Given the description of an element on the screen output the (x, y) to click on. 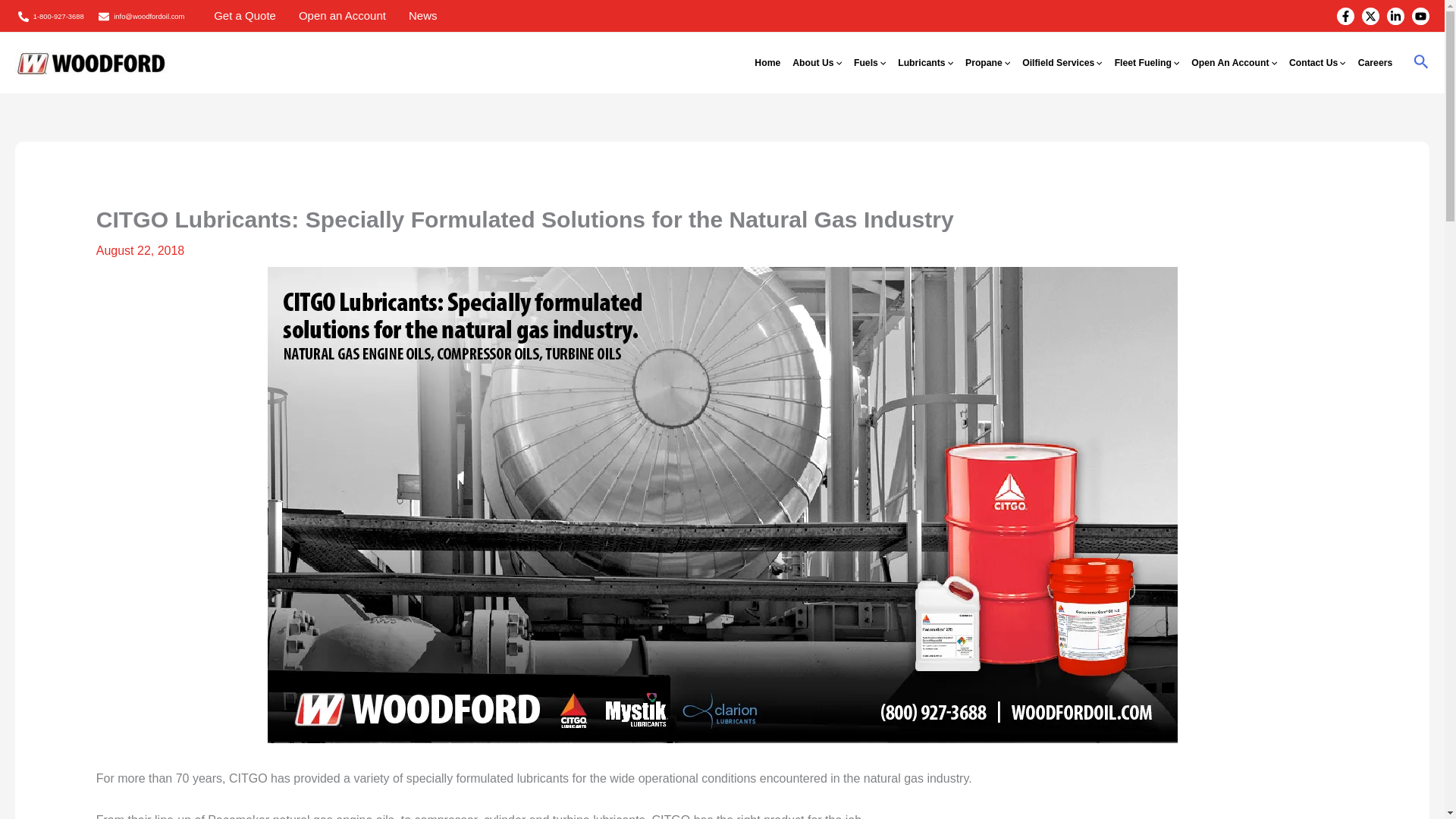
News (422, 15)
Open an Account (341, 15)
Lubricants (925, 62)
Get a Quote (244, 15)
1-800-927-3688 (49, 16)
About Us (816, 62)
